Given the description of an element on the screen output the (x, y) to click on. 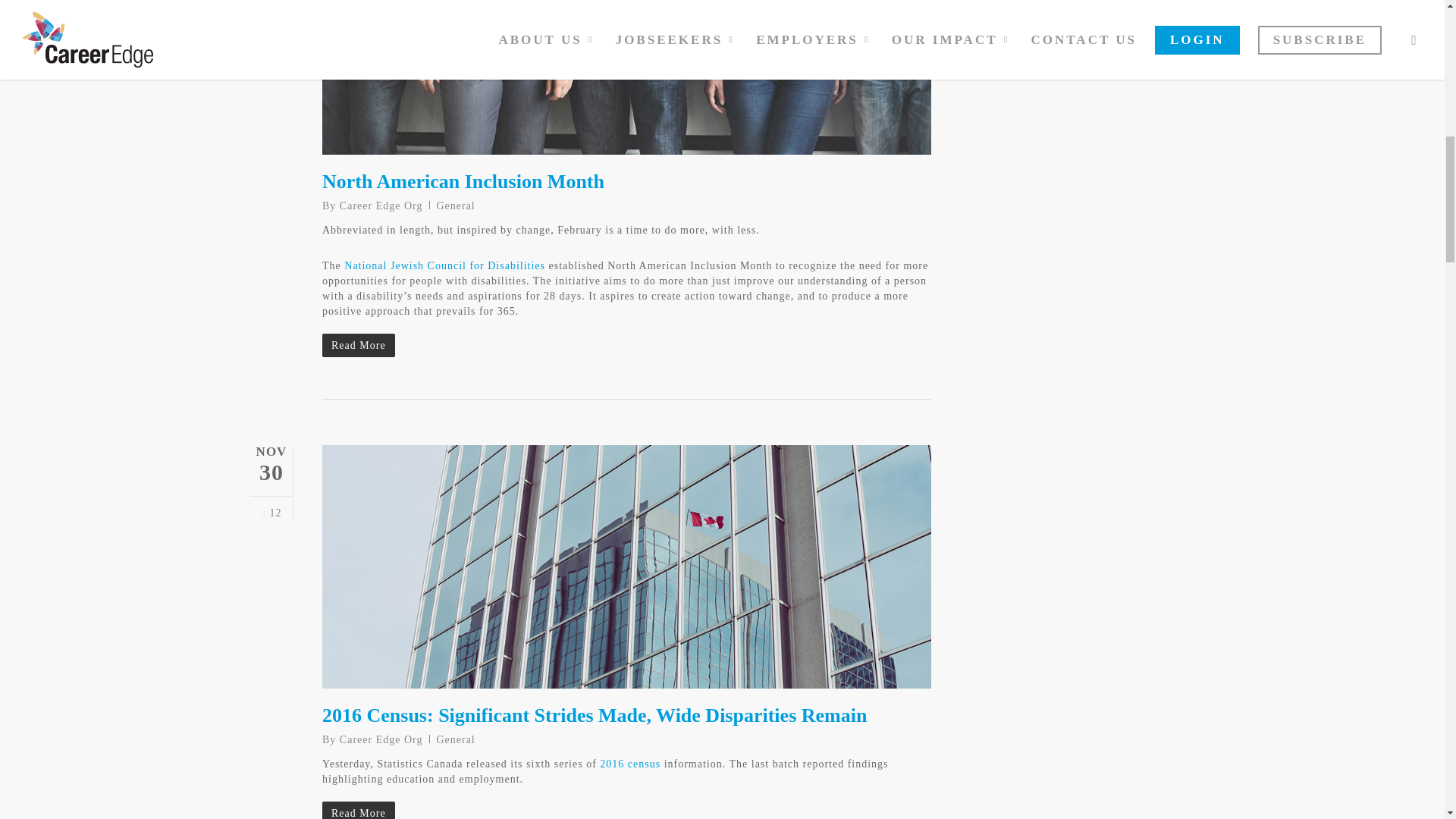
Posts by Career Edge Org (381, 205)
Read More (626, 345)
Posts by Career Edge Org (381, 739)
North American Inclusion Month (462, 181)
Career Edge Org (381, 205)
Love this (270, 513)
General (454, 205)
National Jewish Council for Disabilities (443, 265)
